Given the description of an element on the screen output the (x, y) to click on. 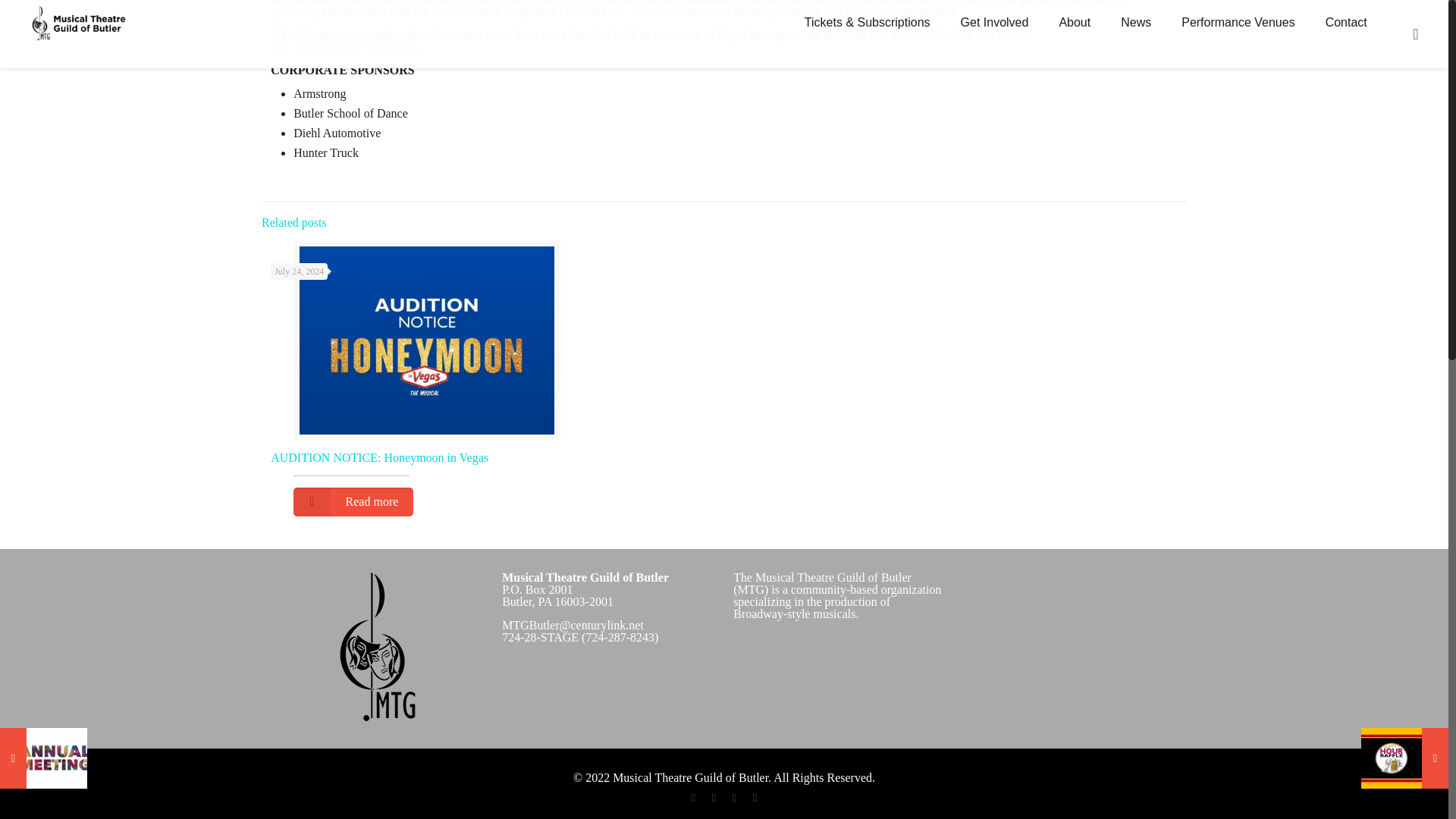
Click here (637, 10)
